Given the description of an element on the screen output the (x, y) to click on. 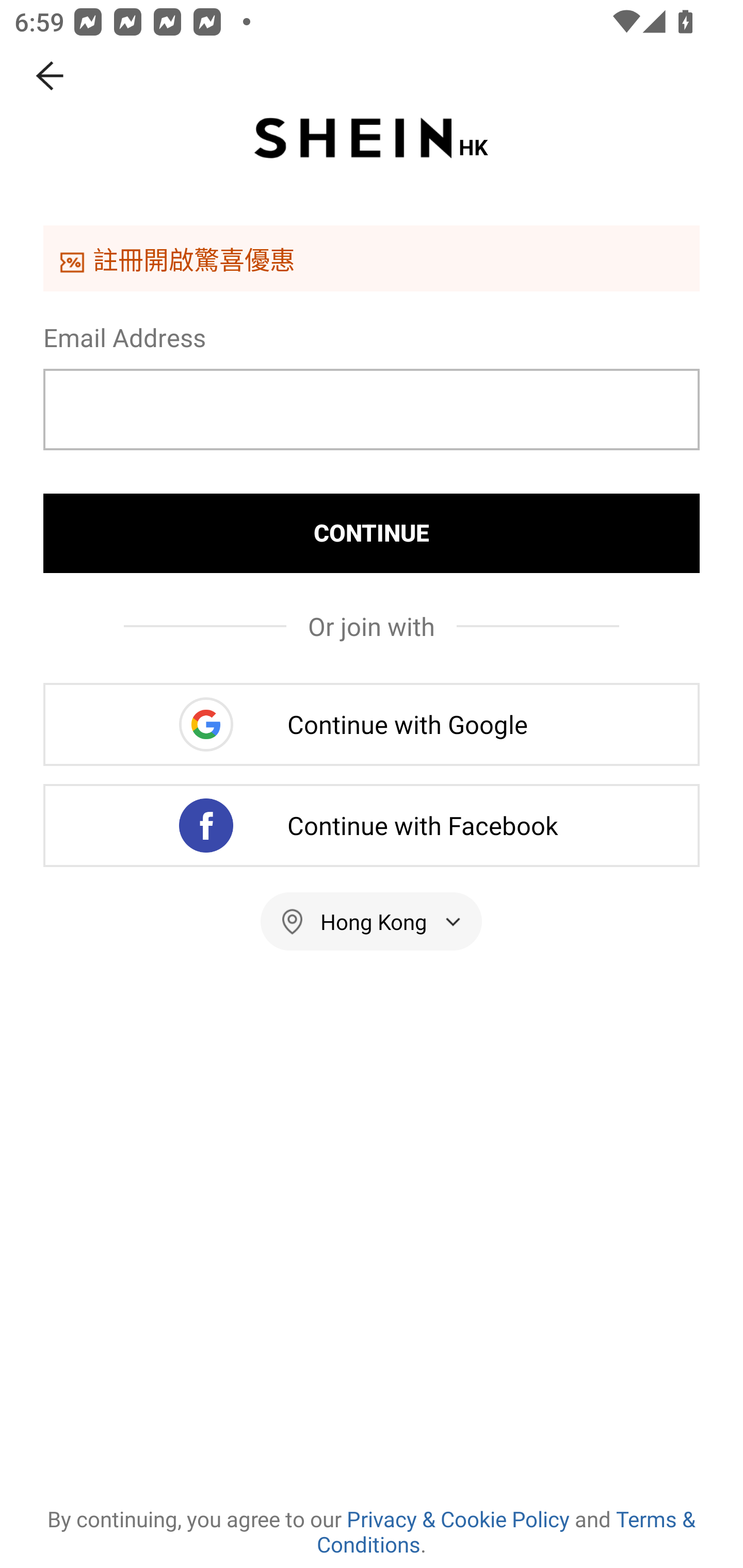
CLOSE (50, 75)
CONTINUE (371, 532)
Continue with Google (371, 724)
Continue with Facebook (371, 825)
Hong Kong (371, 921)
